Given the description of an element on the screen output the (x, y) to click on. 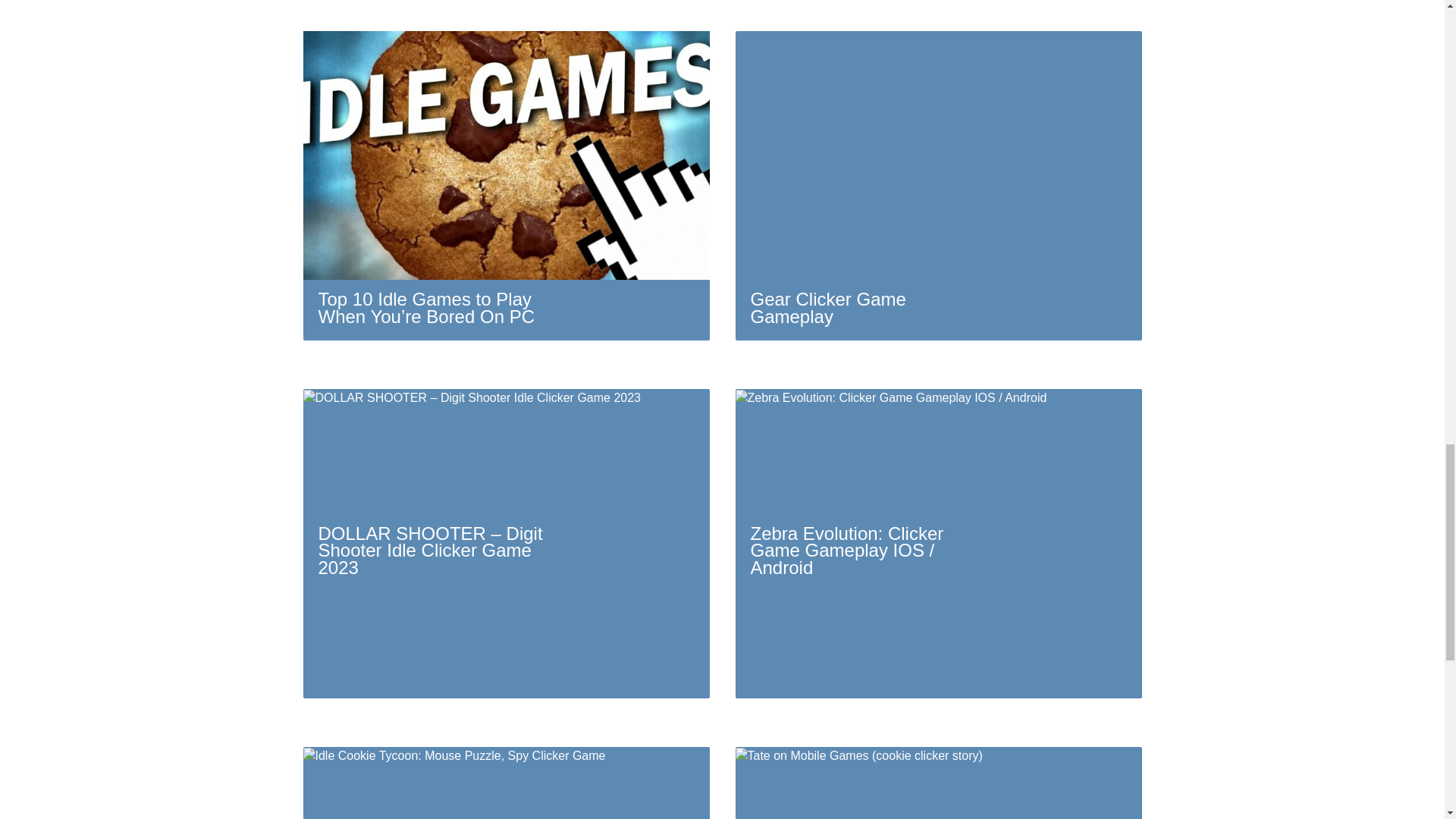
Gear Clicker Game Gameplay (938, 185)
Idle Cookie Tycoon: Mouse Puzzle, Spy Clicker Game (506, 782)
